Given the description of an element on the screen output the (x, y) to click on. 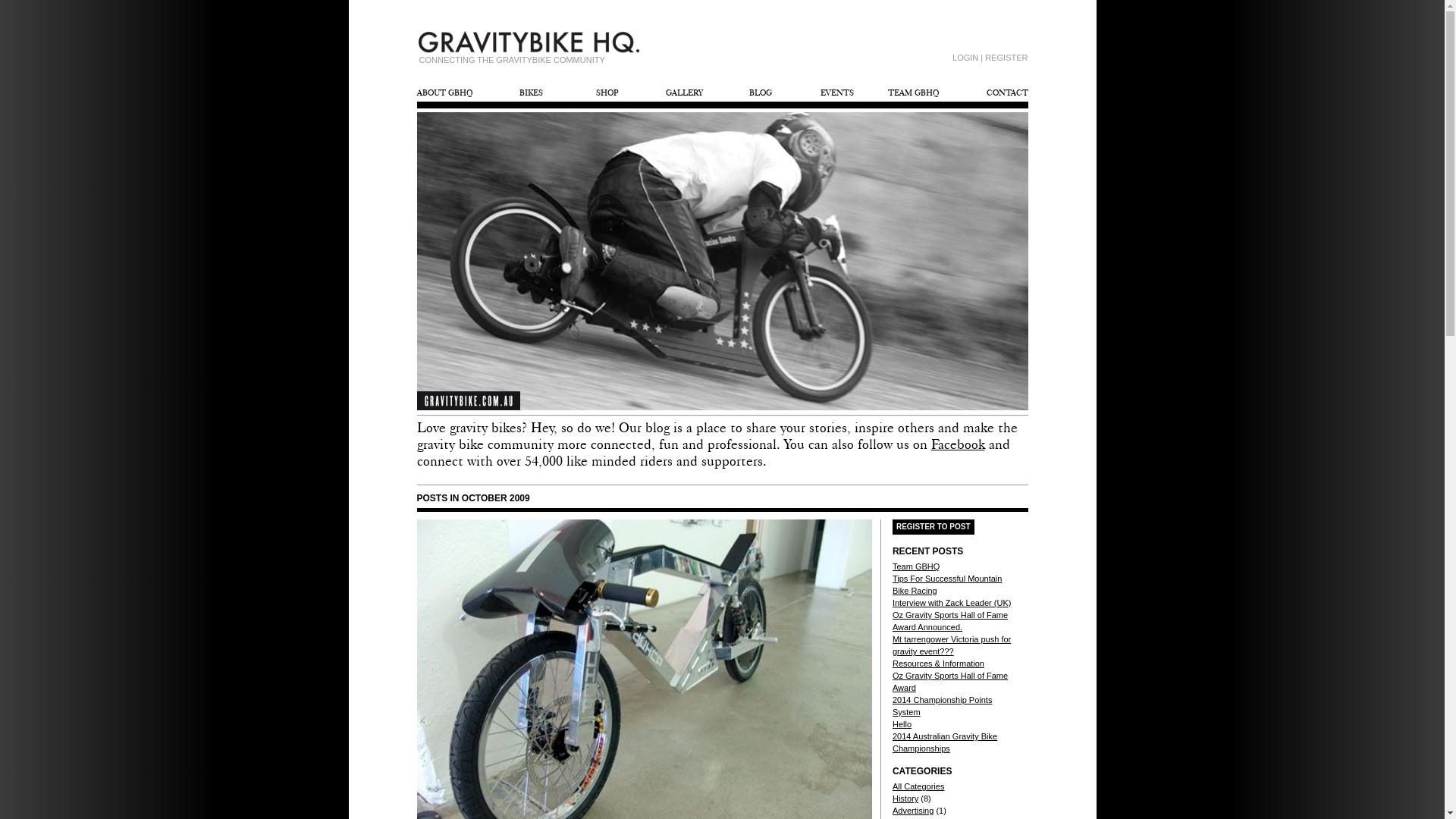
REGISTER Element type: text (1006, 57)
Facebook Element type: text (958, 444)
SHOP Element type: text (607, 92)
Mt tarrengower Victoria push for gravity event??? Element type: text (951, 644)
Oz Gravity Sports Hall of Fame Award Element type: text (949, 681)
TEAM GBHQ Element type: text (913, 92)
Oz Gravity Sports Hall of Fame Award Announced. Element type: text (949, 620)
REGISTER TO POST Element type: text (933, 526)
Interview with Zack Leader (UK) Element type: text (951, 602)
BLOG Element type: text (759, 92)
GALLERY Element type: text (684, 92)
History Element type: text (905, 798)
2014 Championship Points System Element type: text (941, 705)
Advertising Element type: text (912, 810)
CONTACT Element type: text (989, 92)
All Categories Element type: text (918, 785)
ABOUT GBHQ Element type: text (455, 92)
EVENTS Element type: text (836, 92)
2014 Australian Gravity Bike Championships Element type: text (944, 742)
Tips For Successful Mountain Bike Racing Element type: text (946, 584)
Hello Element type: text (901, 723)
BIKES Element type: text (530, 92)
LOGIN Element type: text (965, 57)
Resources & Information Element type: text (938, 663)
Team GBHQ Element type: text (915, 566)
